Given the description of an element on the screen output the (x, y) to click on. 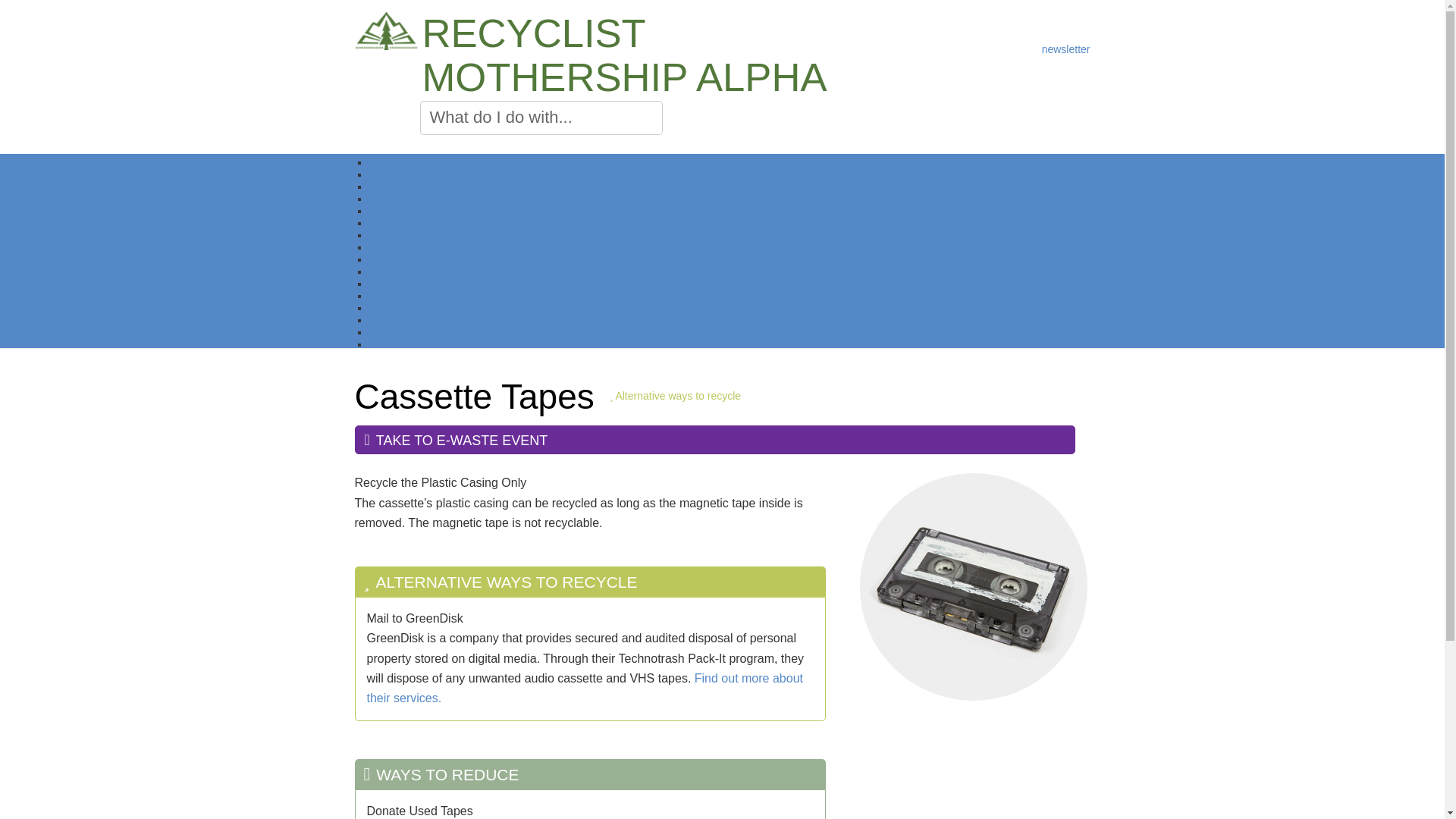
RECYCLIST MOTHERSHIP ALPHA (628, 55)
newsletter (1064, 47)
TAKE TO E-WASTE EVENT (715, 439)
